Given the description of an element on the screen output the (x, y) to click on. 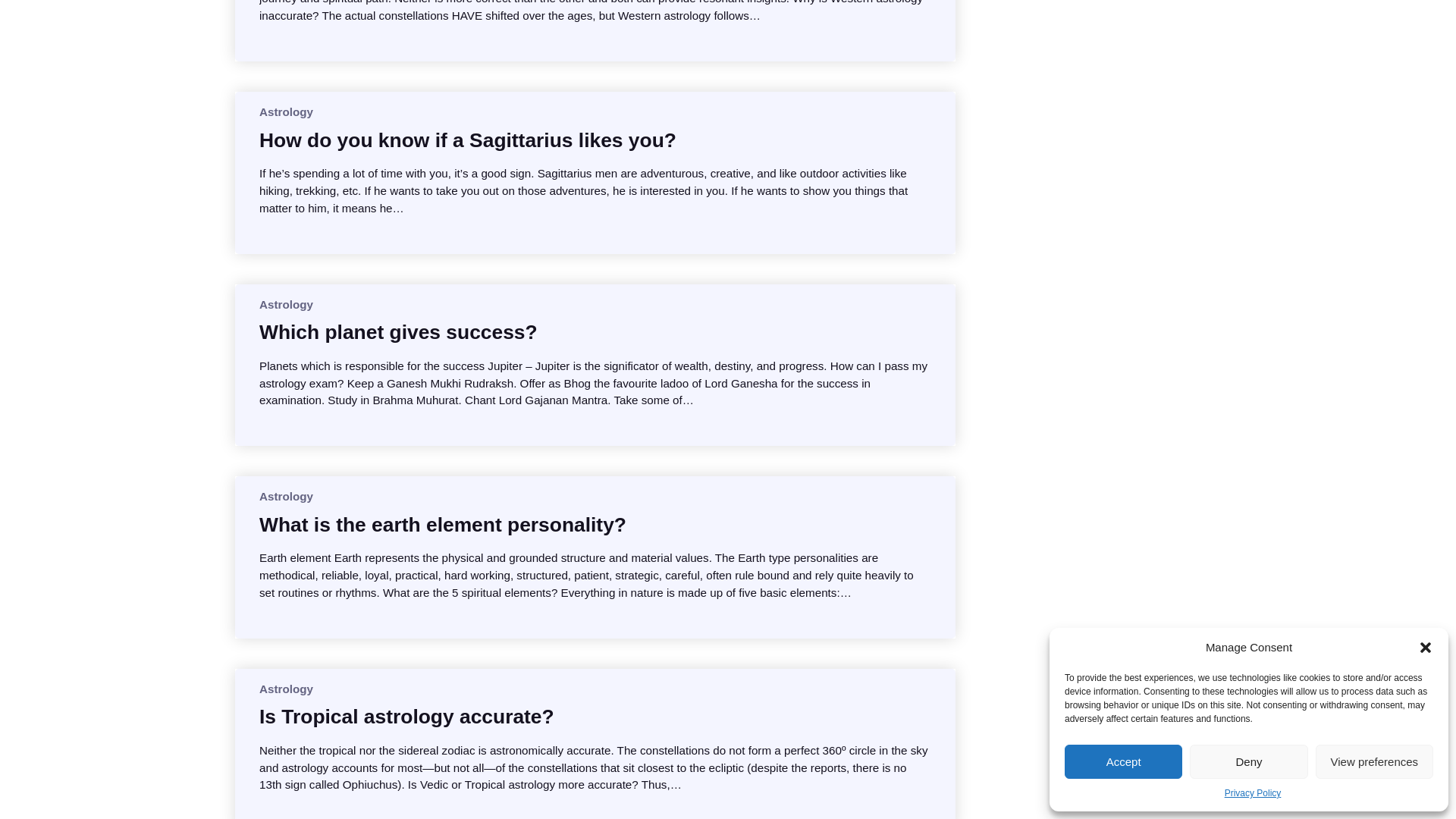
Astrology (286, 495)
Astrology (286, 688)
Astrology (286, 111)
Advertisement (1106, 81)
Is Tropical astrology accurate? (406, 716)
What is the earth element personality? (442, 524)
Astrology (286, 304)
Which planet gives success? (398, 331)
How do you know if a Sagittarius likes you? (468, 140)
